Given the description of an element on the screen output the (x, y) to click on. 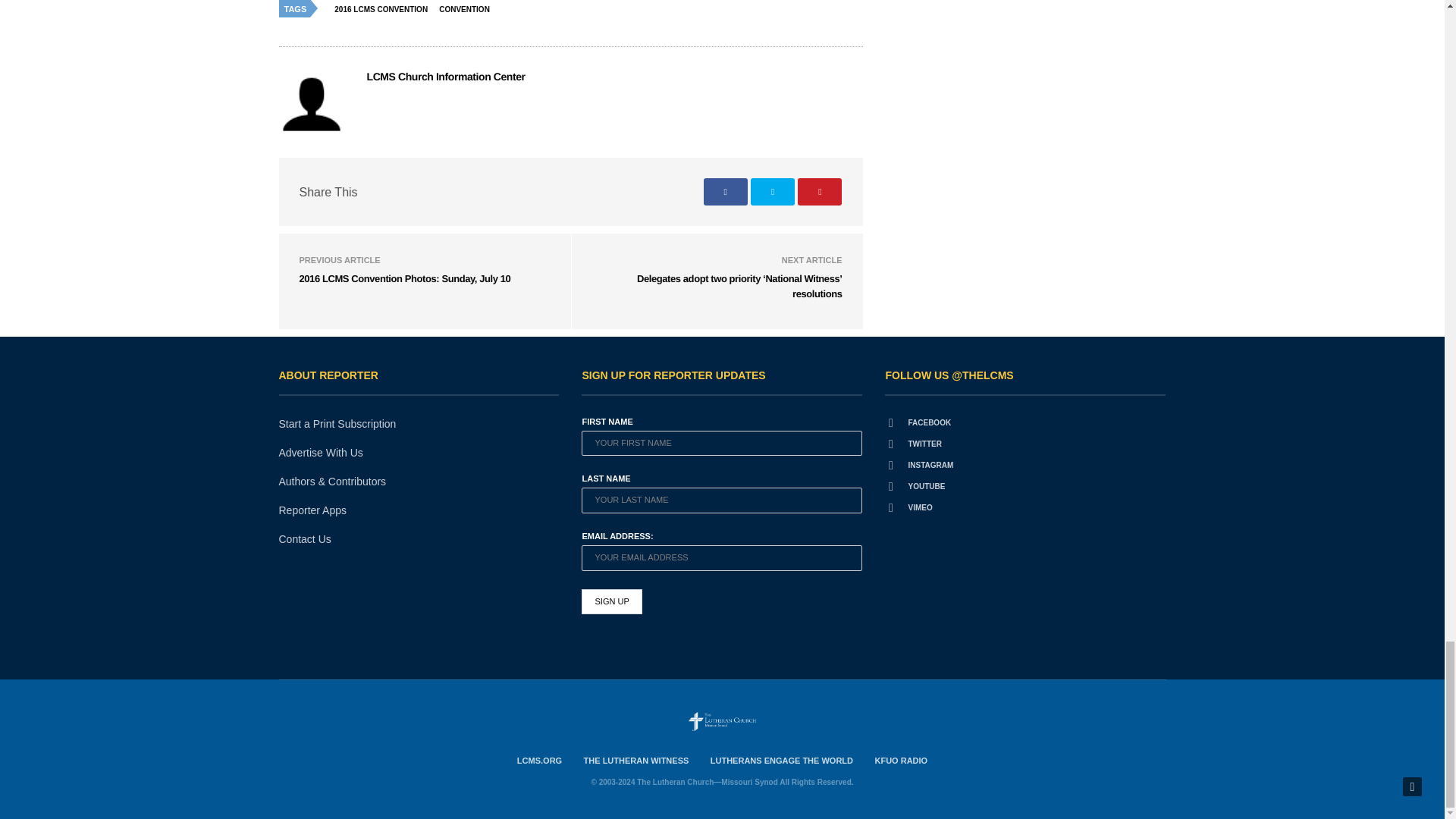
Sign up (611, 601)
2016 LCMS Convention Photos: Sunday, July 10 (404, 278)
